Given the description of an element on the screen output the (x, y) to click on. 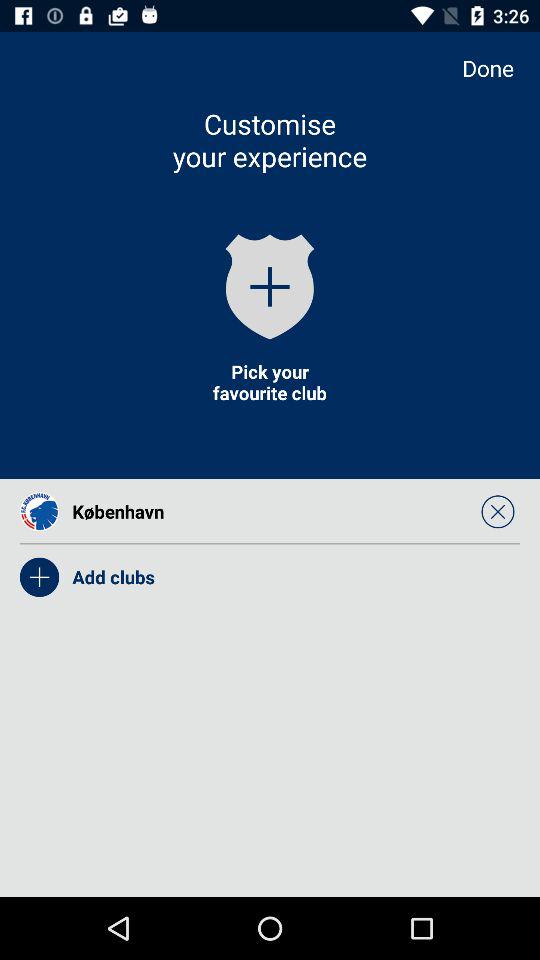
click the done item (497, 68)
